Given the description of an element on the screen output the (x, y) to click on. 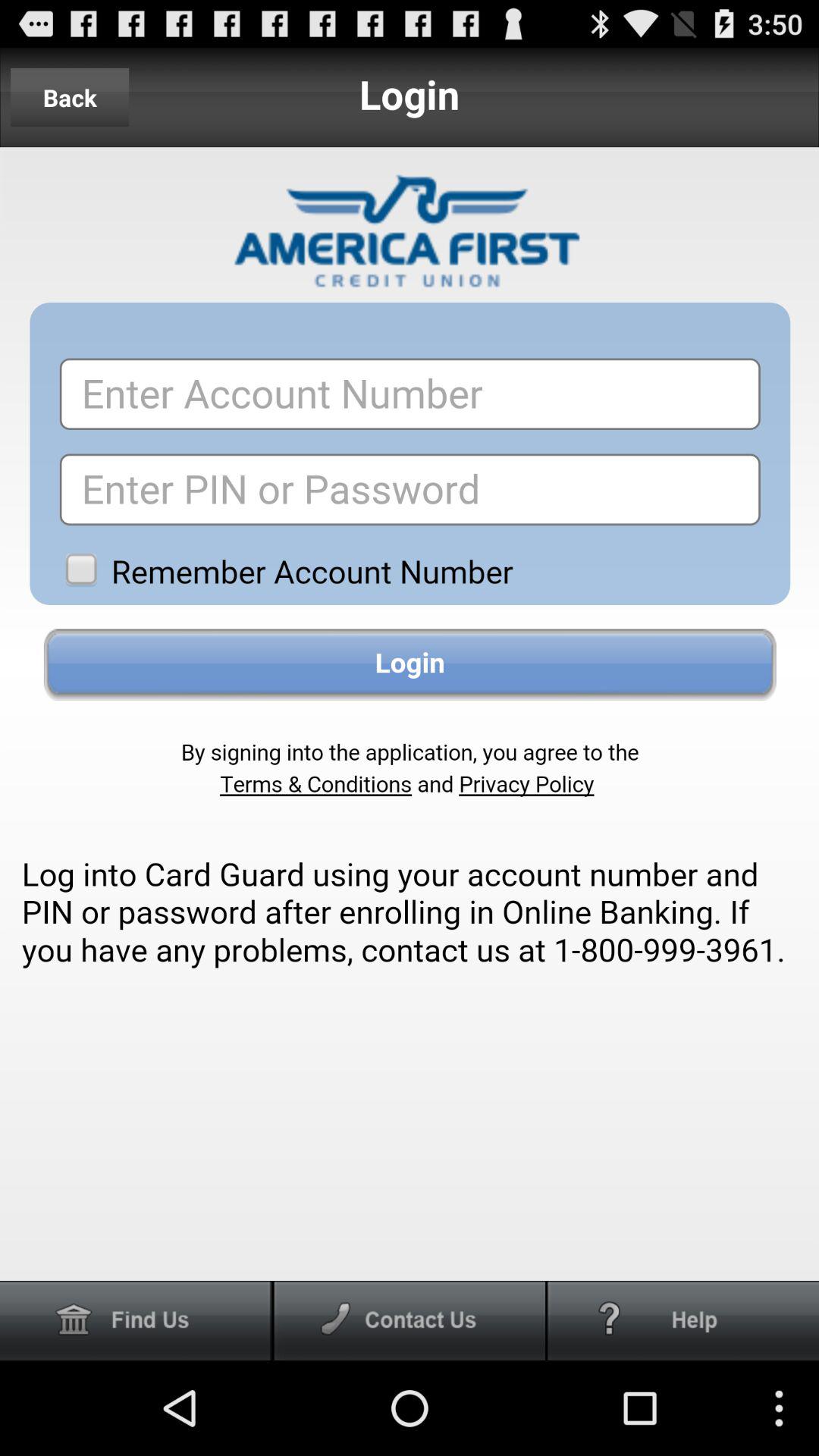
menu button (409, 1320)
